Given the description of an element on the screen output the (x, y) to click on. 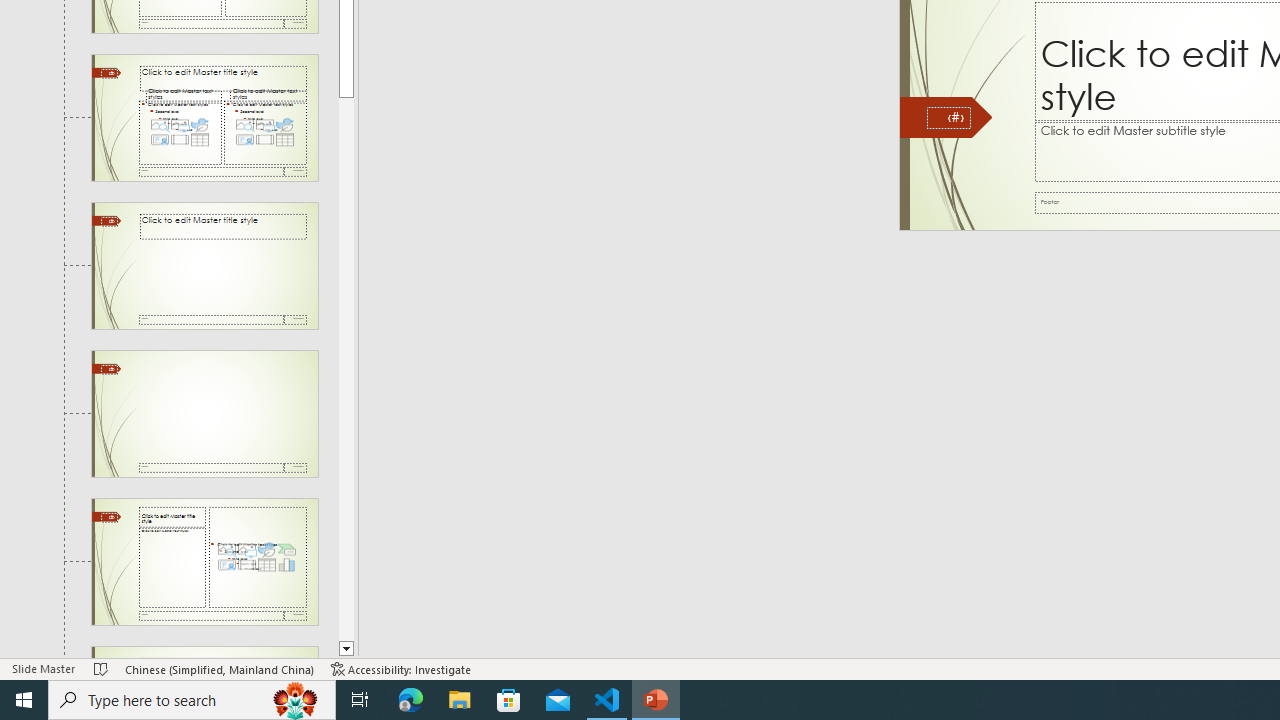
Slide Title Only Layout: used by no slides (204, 266)
Slide Content with Caption Layout: used by no slides (204, 561)
Slide Picture with Caption Layout: used by no slides (204, 652)
Freeform 6 (945, 117)
Slide Blank Layout: used by no slides (204, 413)
Slide Number (948, 117)
Slide Comparison Layout: used by no slides (204, 117)
